Given the description of an element on the screen output the (x, y) to click on. 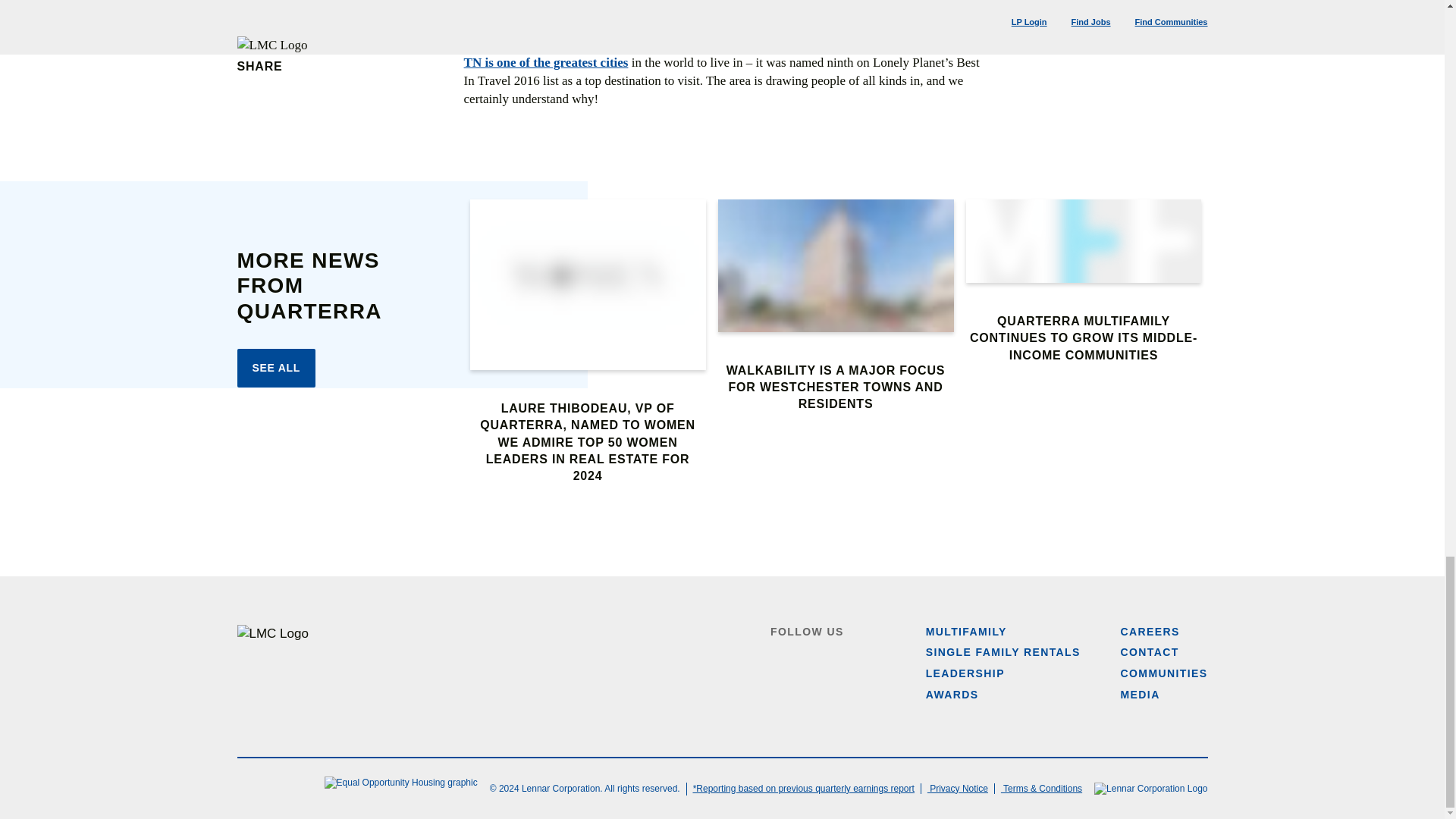
CONTACT (1150, 652)
COMMUNITIES (1164, 673)
MEDIA (1140, 694)
SINGLE FAMILY RENTALS (1003, 652)
LEADERSHIP (965, 673)
CAREERS (1150, 631)
Nashville, TN is one of the greatest cities (721, 53)
SEE ALL (275, 368)
MULTIFAMILY (966, 631)
AWARDS (952, 694)
